Given the description of an element on the screen output the (x, y) to click on. 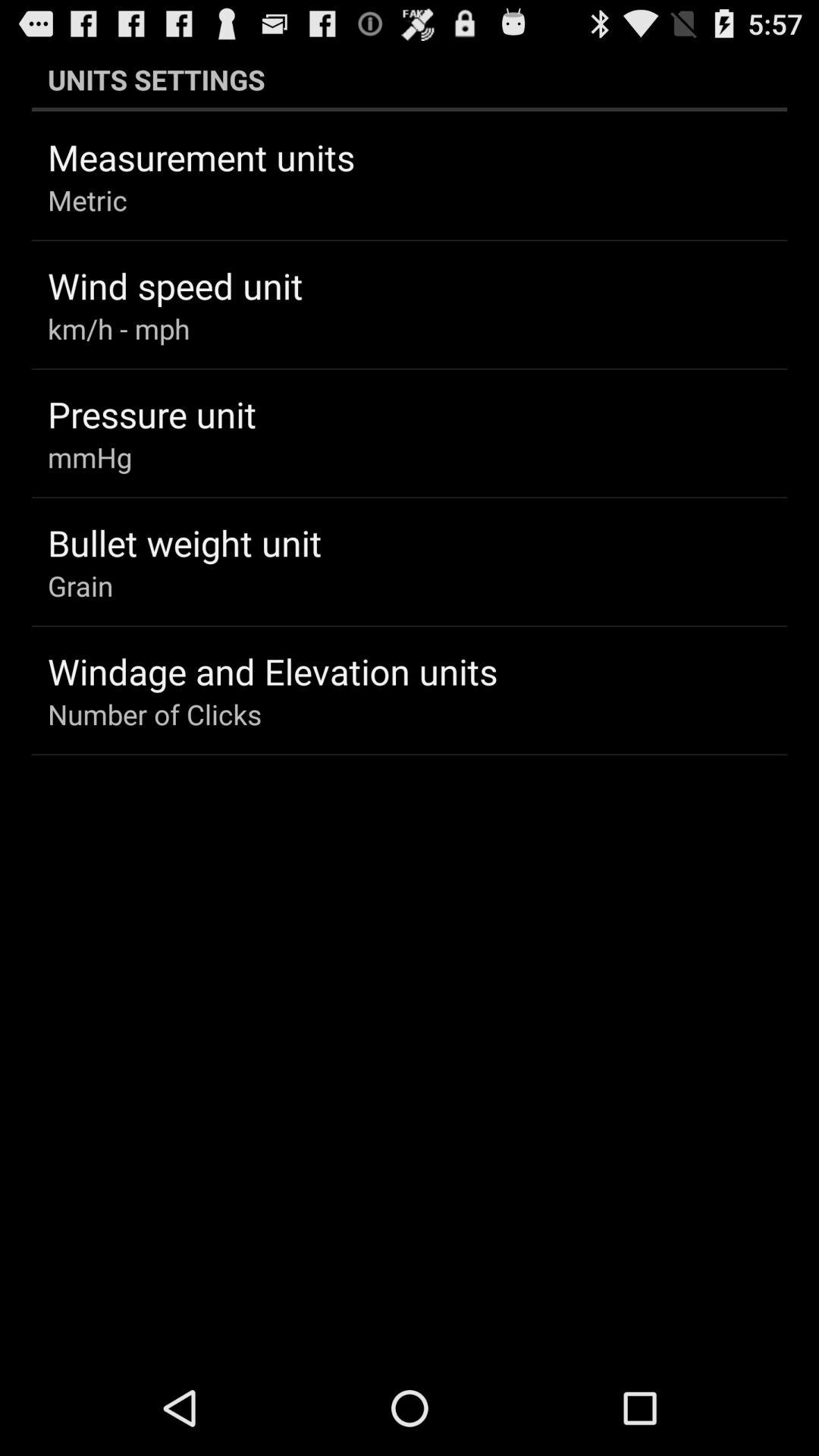
launch the icon below the pressure unit item (89, 457)
